Given the description of an element on the screen output the (x, y) to click on. 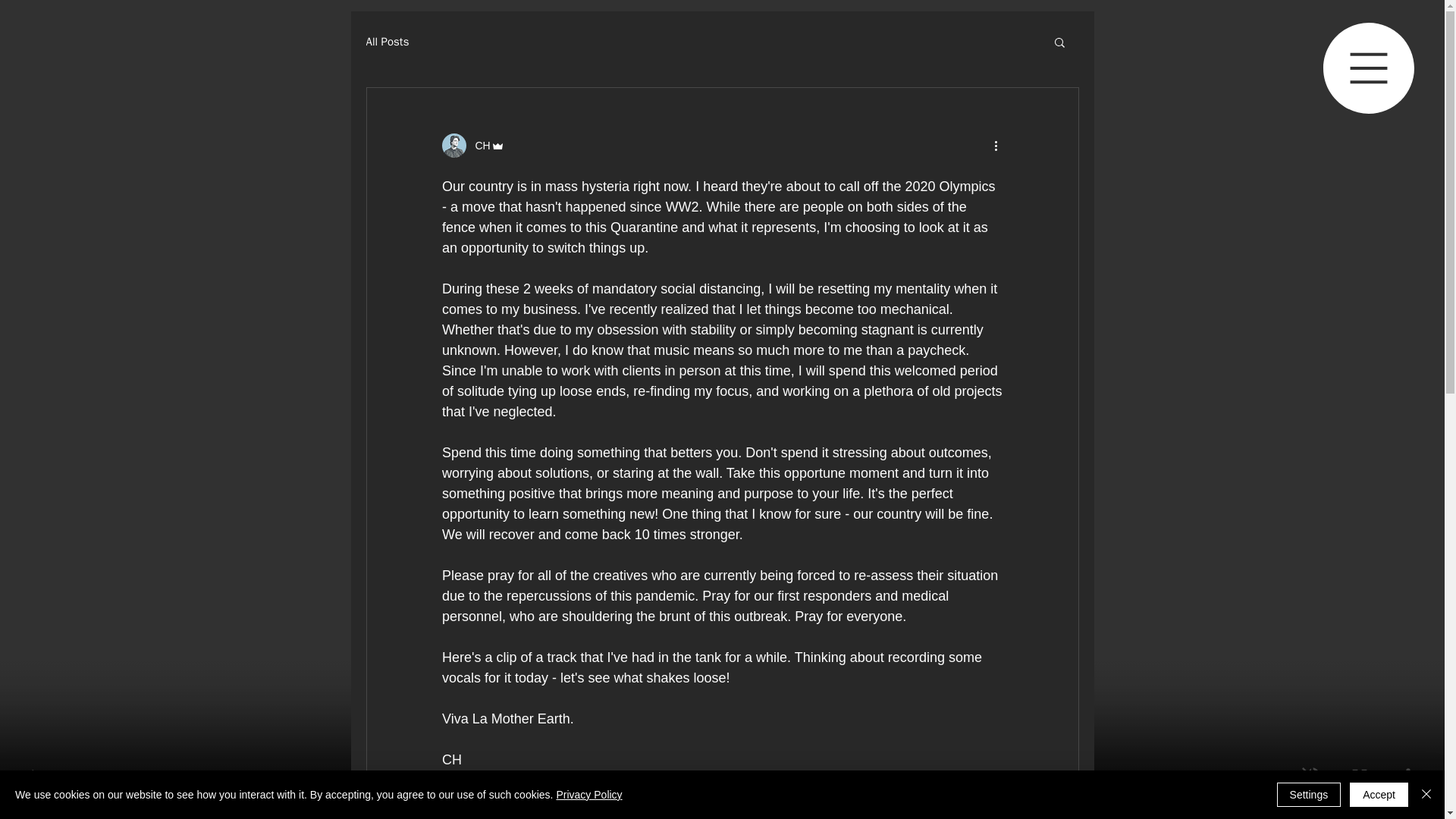
Privacy Policy (588, 794)
CH (472, 145)
Accept (1378, 794)
Settings (1308, 794)
CH (477, 145)
All Posts (387, 42)
